Given the description of an element on the screen output the (x, y) to click on. 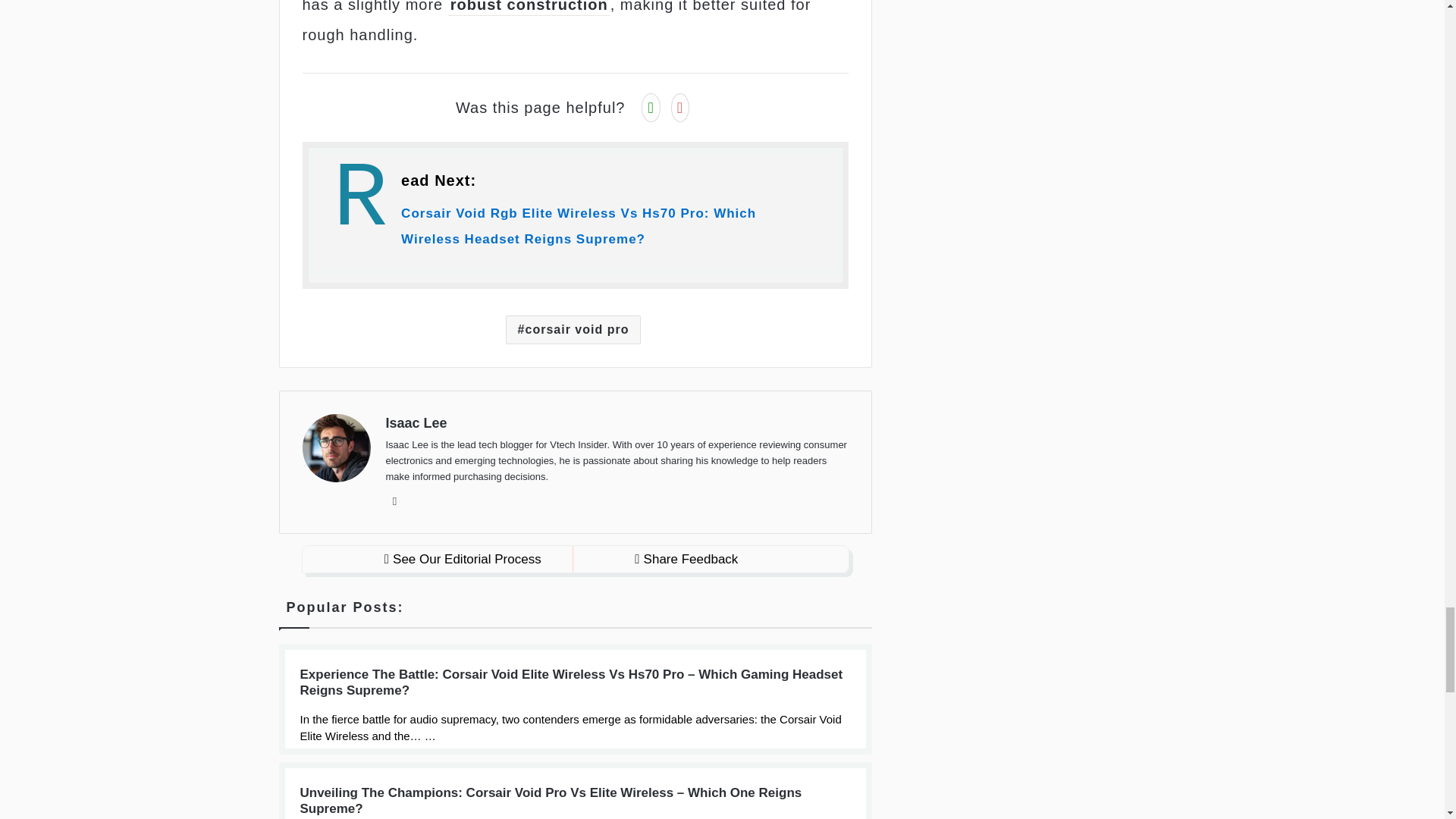
corsair void pro (573, 329)
See Our Editorial Process (463, 559)
Share Feedback (686, 559)
Website (394, 501)
Isaac Lee (415, 422)
